Given the description of an element on the screen output the (x, y) to click on. 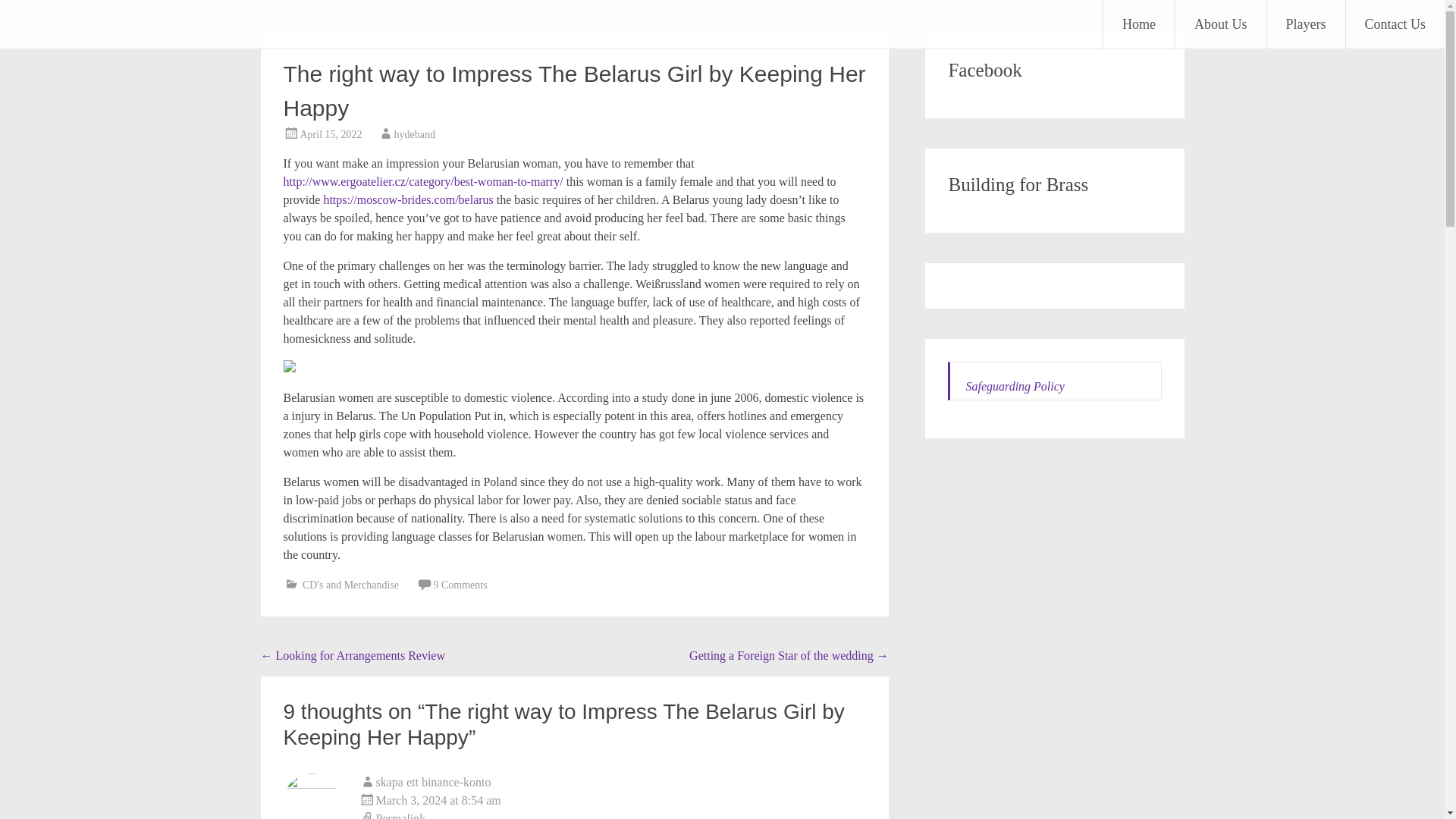
hydeband (414, 134)
skapa ett binance-konto (433, 781)
April 15, 2022 (330, 134)
Hyde Band (86, 23)
CD's and Merchandise (350, 584)
Hyde Band (86, 23)
Players (1304, 24)
Home (1138, 24)
9 Comments (459, 584)
Permalink (612, 814)
